Given the description of an element on the screen output the (x, y) to click on. 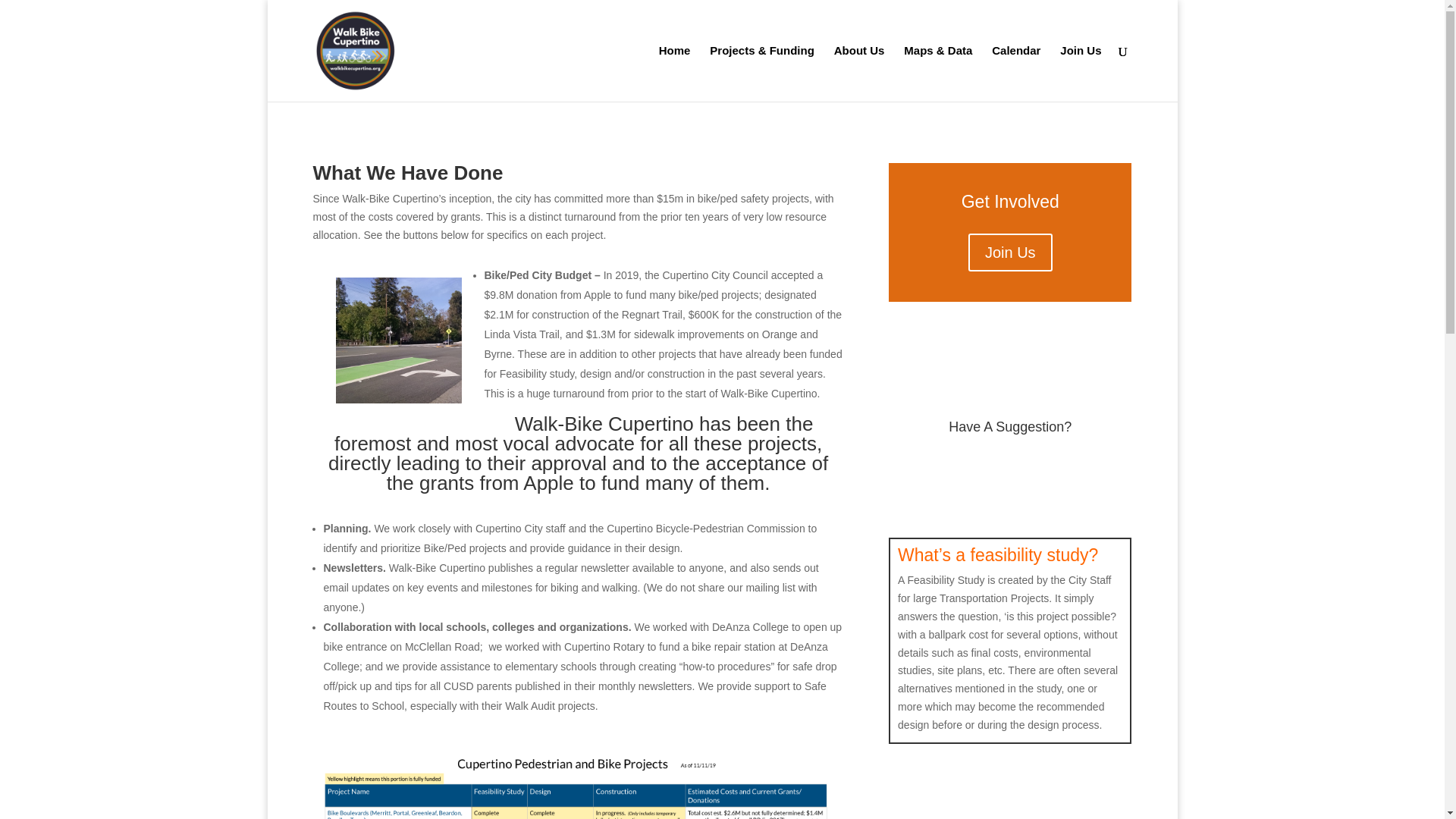
Join Us (1010, 252)
Have A Suggestion? (1010, 426)
About Us (859, 73)
